Given the description of an element on the screen output the (x, y) to click on. 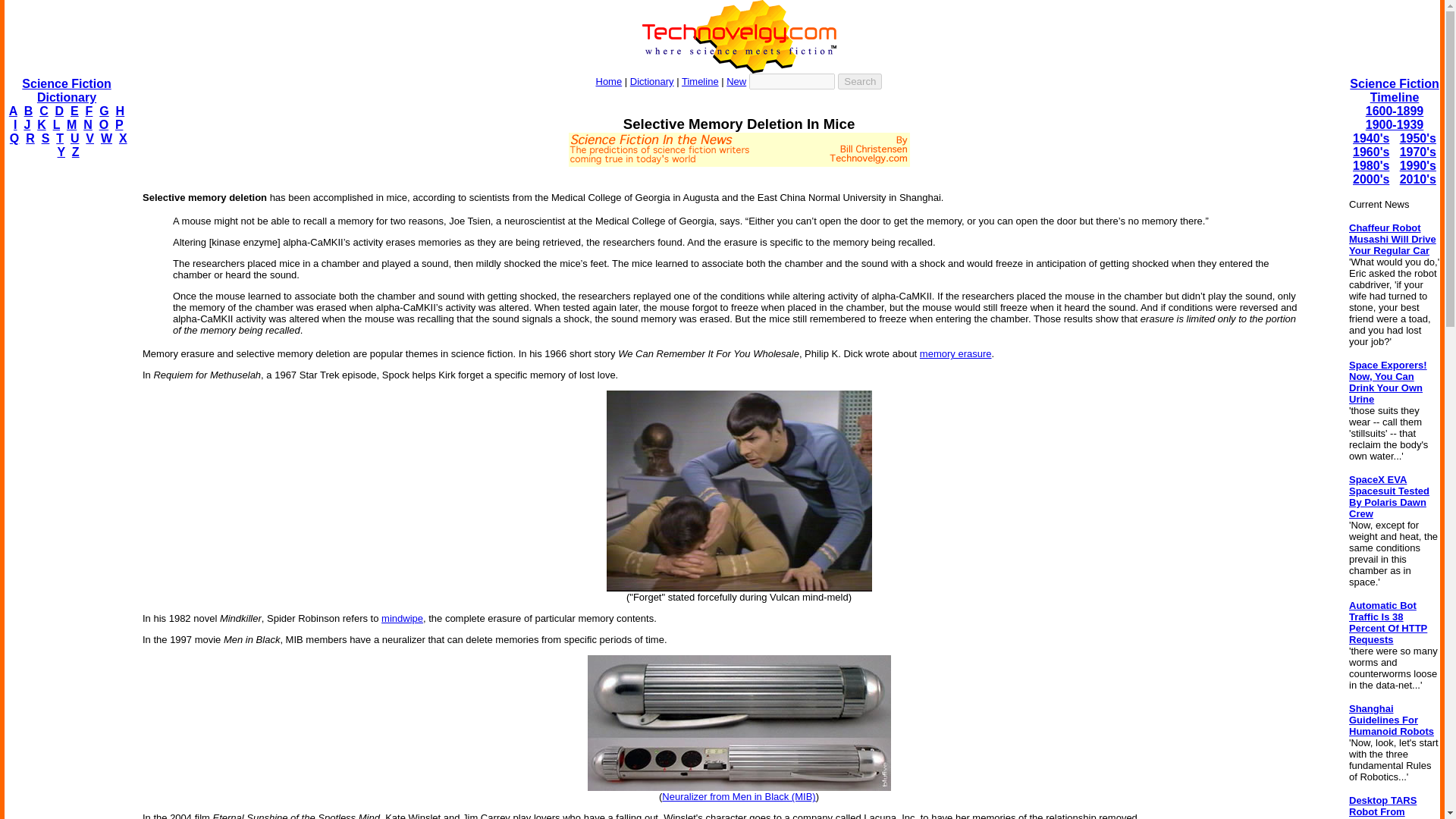
mindwipe (402, 618)
Timeline (700, 81)
Search (860, 81)
Dictionary (652, 81)
memory erasure (955, 353)
Science Fiction Dictionary (65, 90)
New (735, 81)
Search (860, 81)
Home (609, 81)
